Given the description of an element on the screen output the (x, y) to click on. 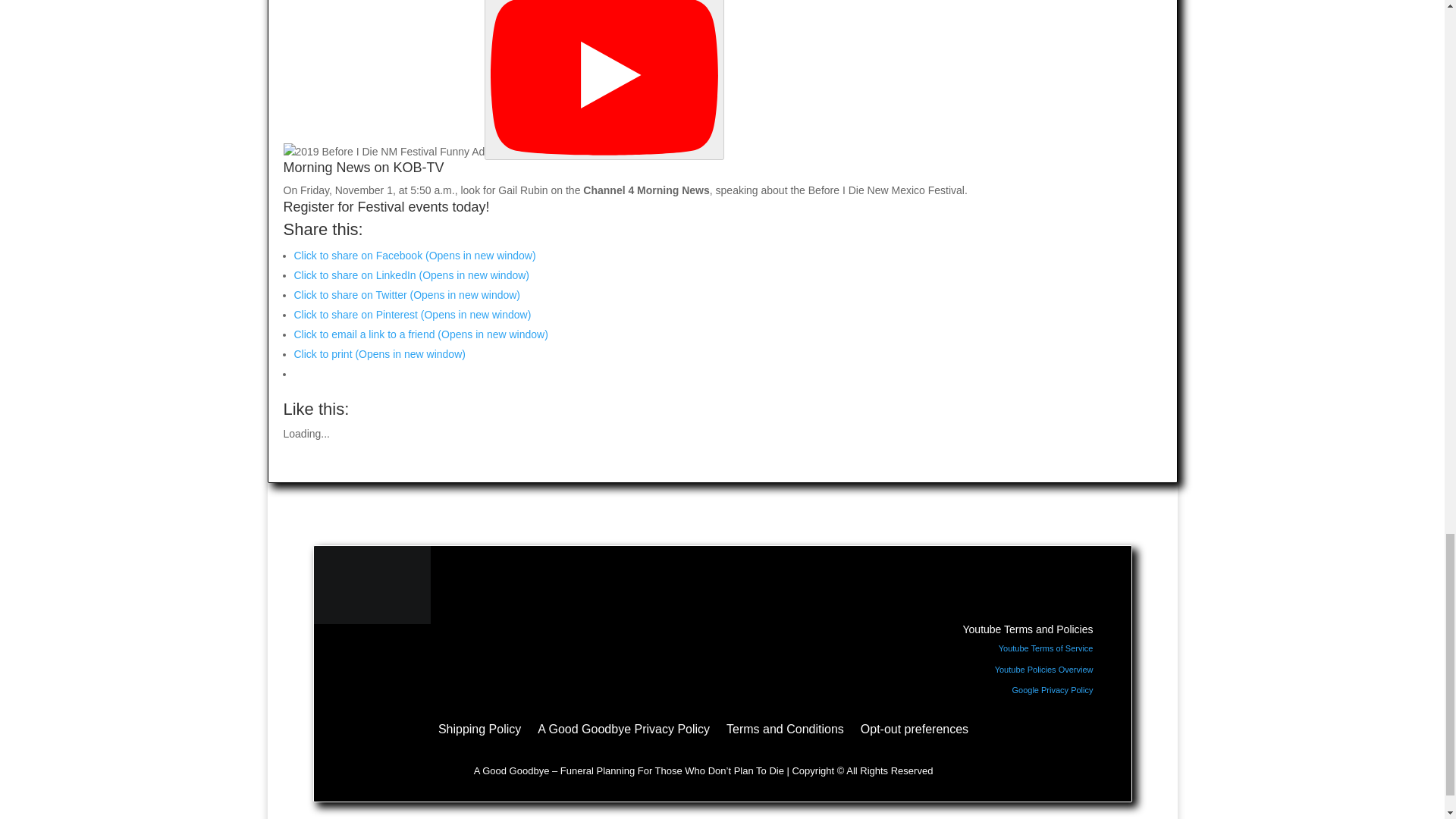
Click to share on Facebook (414, 255)
Click to print (379, 354)
Click to email a link to a friend (421, 334)
Click to share on Pinterest (412, 314)
Click to share on Twitter (407, 295)
Click to share on LinkedIn (411, 275)
